Given the description of an element on the screen output the (x, y) to click on. 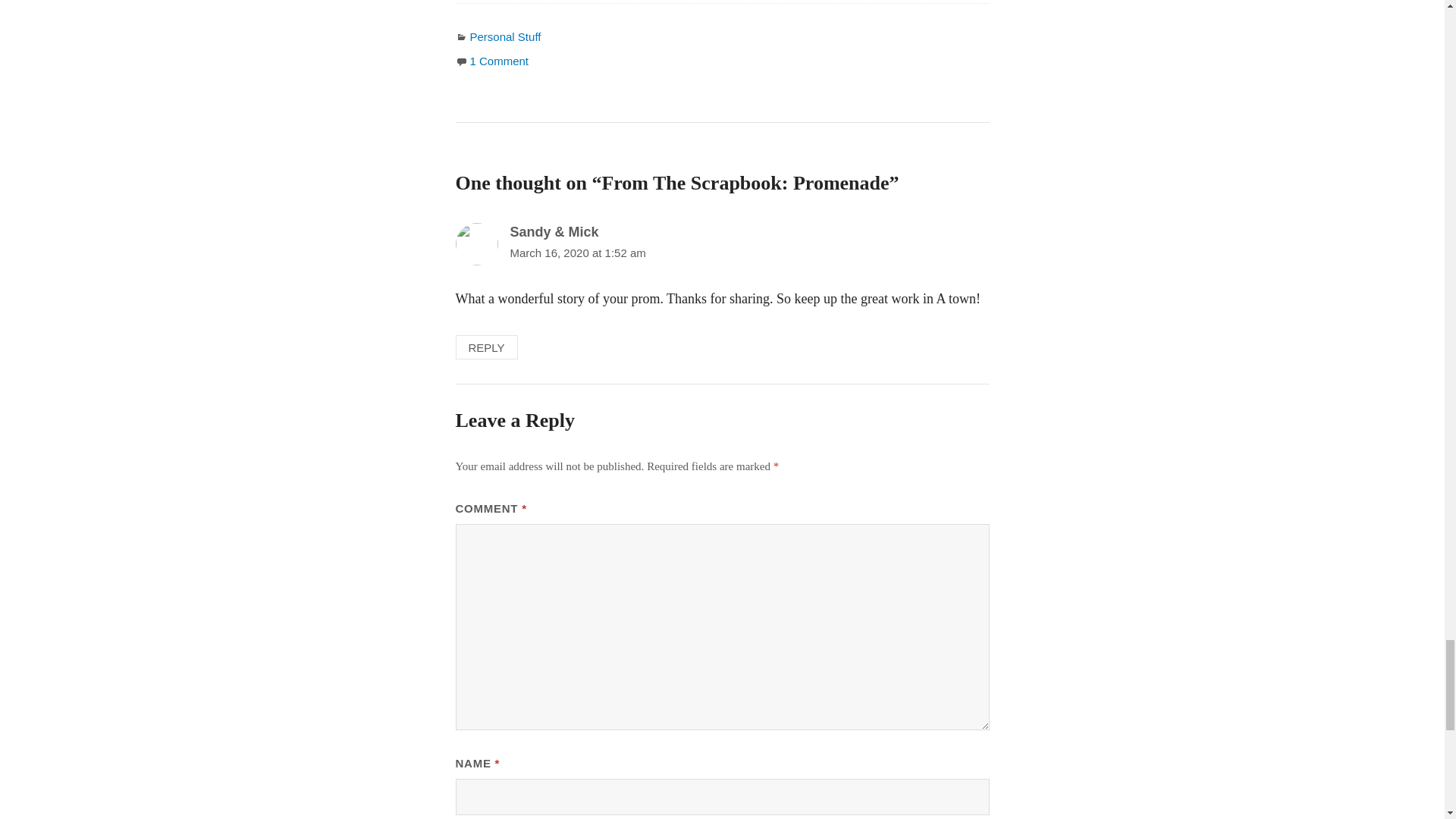
REPLY (485, 346)
Personal Stuff (505, 36)
March 16, 2020 at 1:52 am (577, 252)
1 Comment (499, 60)
